Given the description of an element on the screen output the (x, y) to click on. 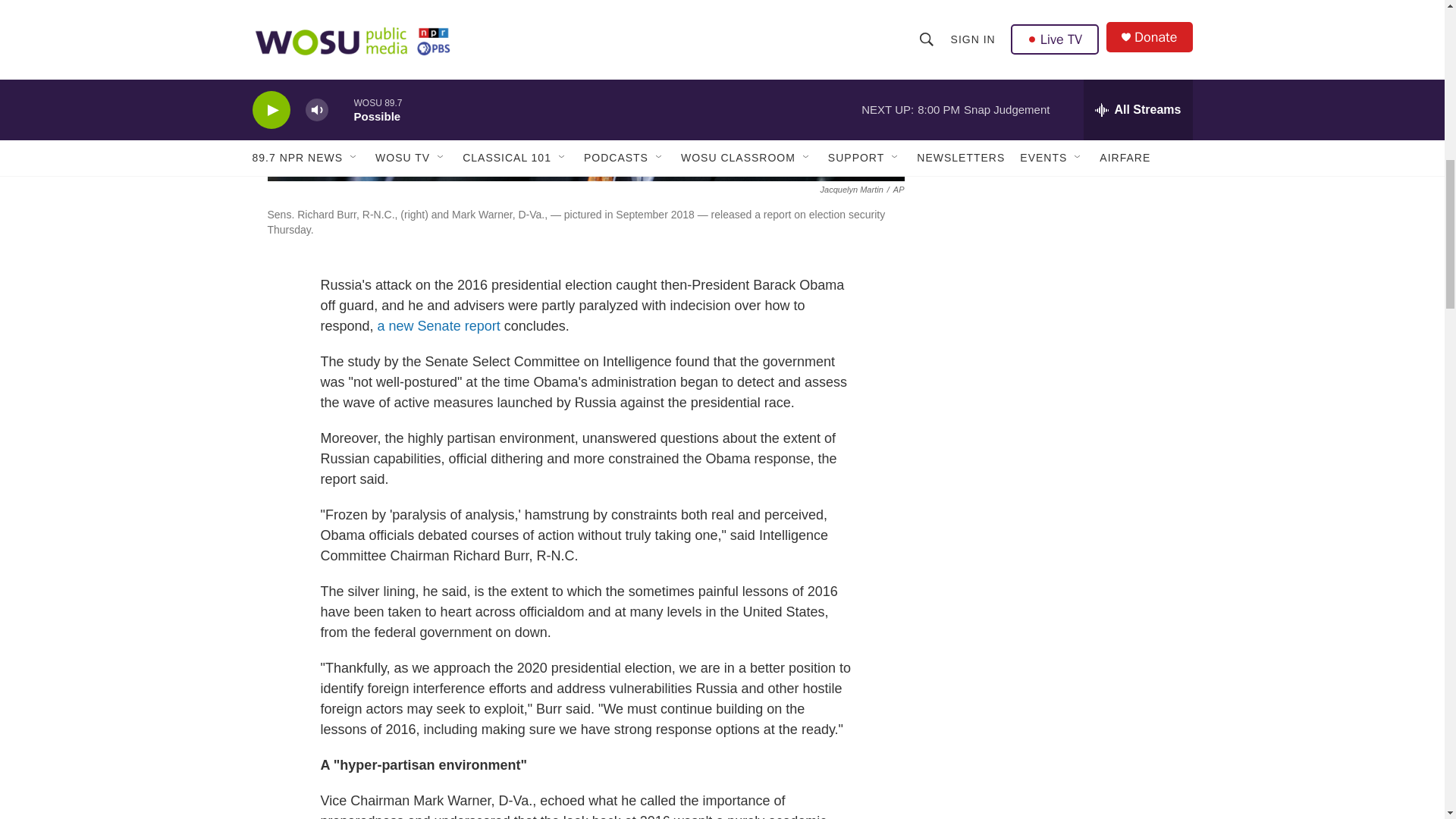
3rd party ad content (1062, 58)
